Given the description of an element on the screen output the (x, y) to click on. 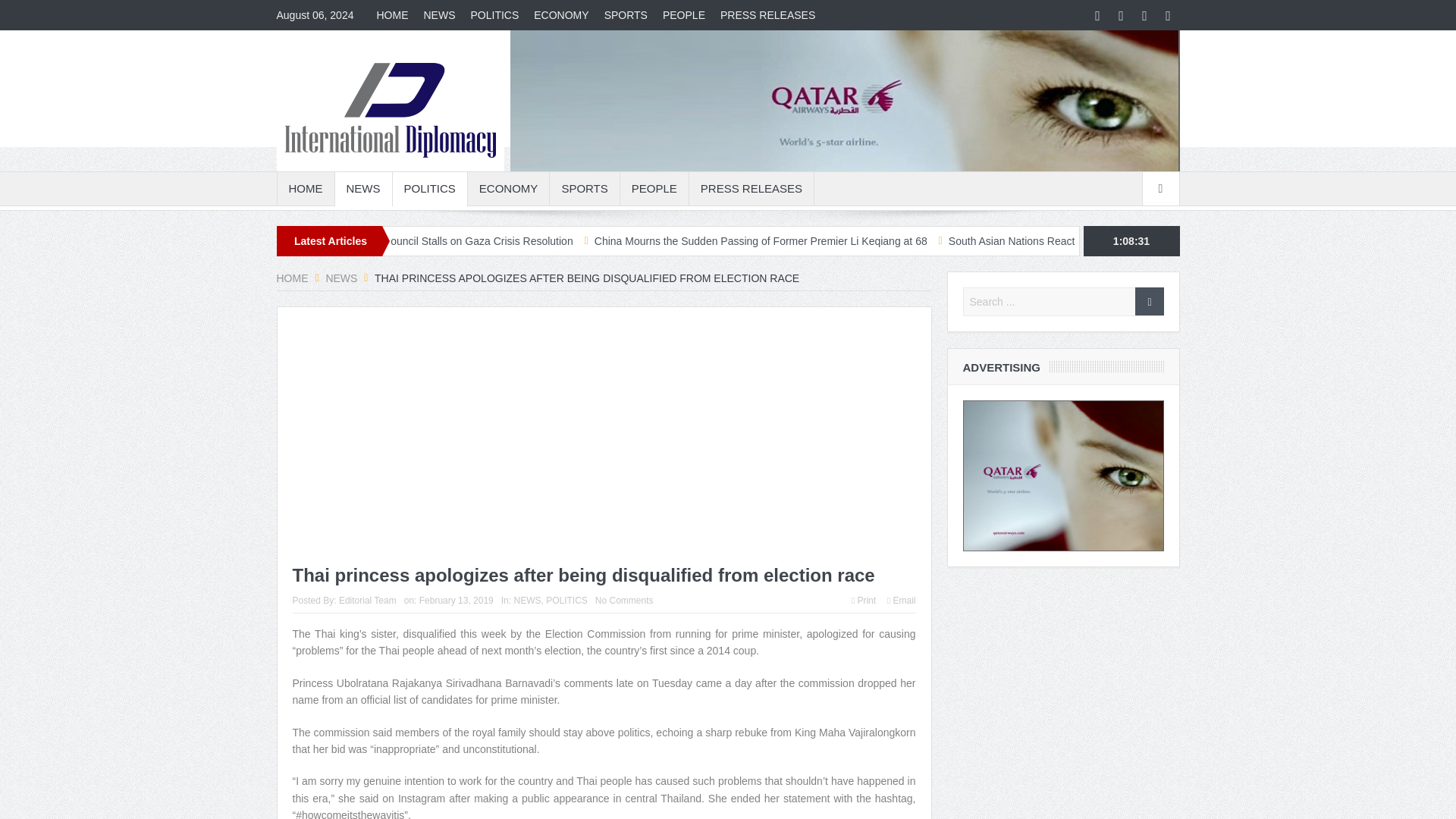
View all posts in POLITICS (567, 600)
ECONOMY (508, 188)
PEOPLE (684, 15)
POLITICS (430, 188)
PEOPLE (654, 188)
NEWS (362, 188)
ECONOMY (560, 15)
View all posts in NEWS (526, 600)
UN Security Council Stalls on Gaza Crisis Resolution (448, 241)
SPORTS (625, 15)
NEWS (340, 277)
PRESS RELEASES (767, 15)
NEWS (438, 15)
POLITICS (494, 15)
